Given the description of an element on the screen output the (x, y) to click on. 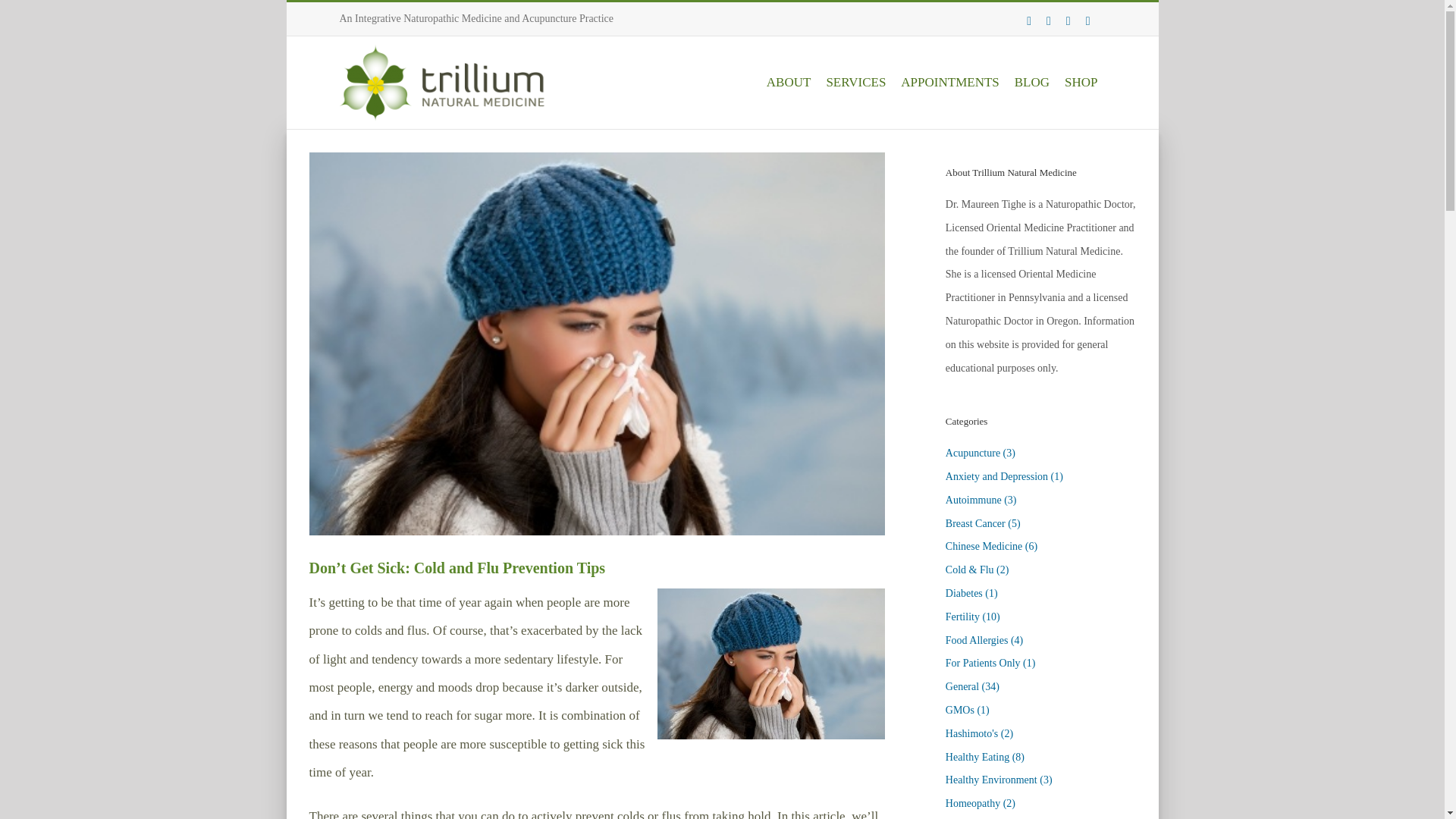
Cold-and-Flu-Prevention (771, 663)
APPOINTMENTS (949, 82)
Make an Appointment (949, 82)
